Given the description of an element on the screen output the (x, y) to click on. 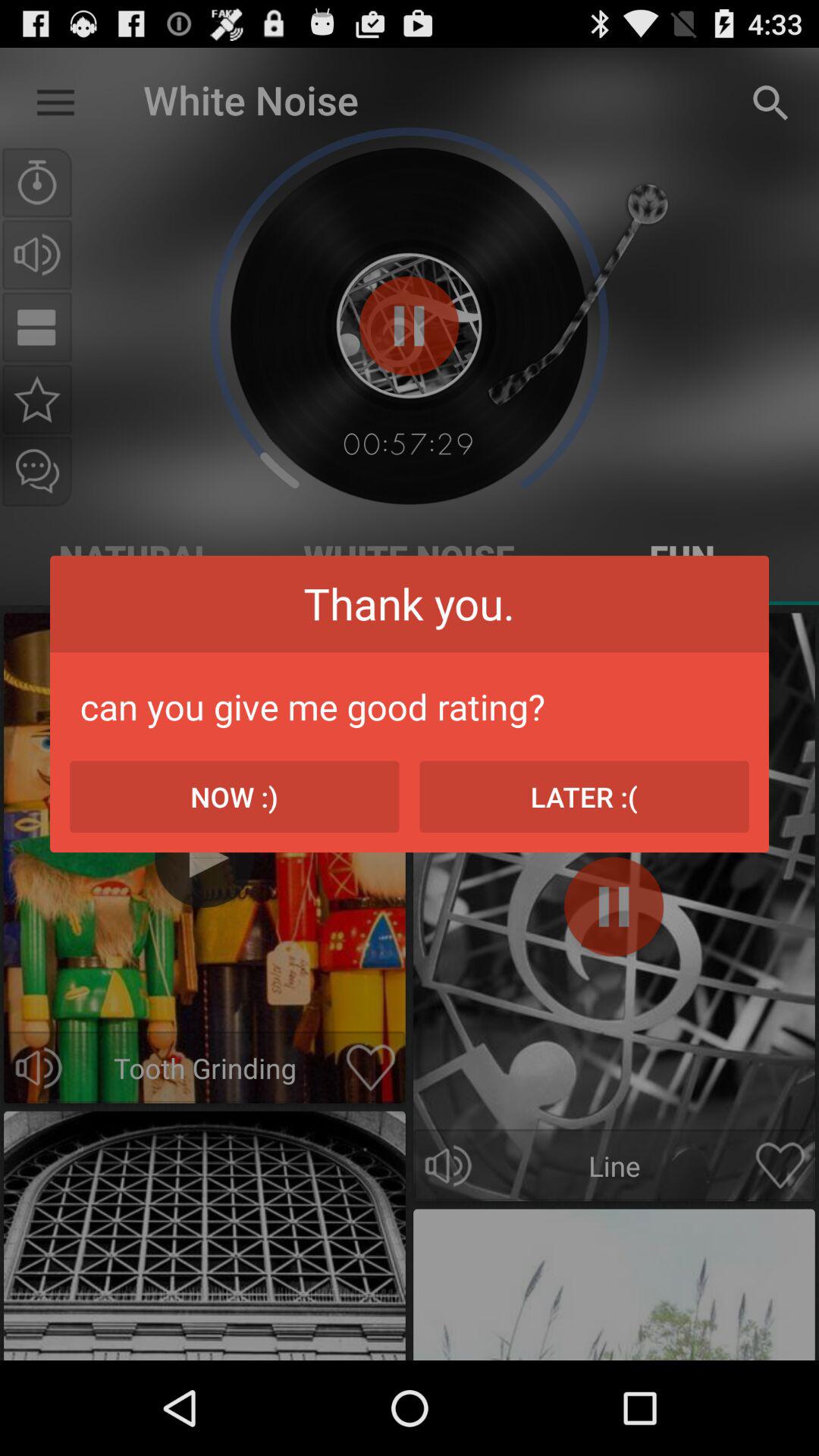
launch the icon next to the now :) (584, 796)
